Given the description of an element on the screen output the (x, y) to click on. 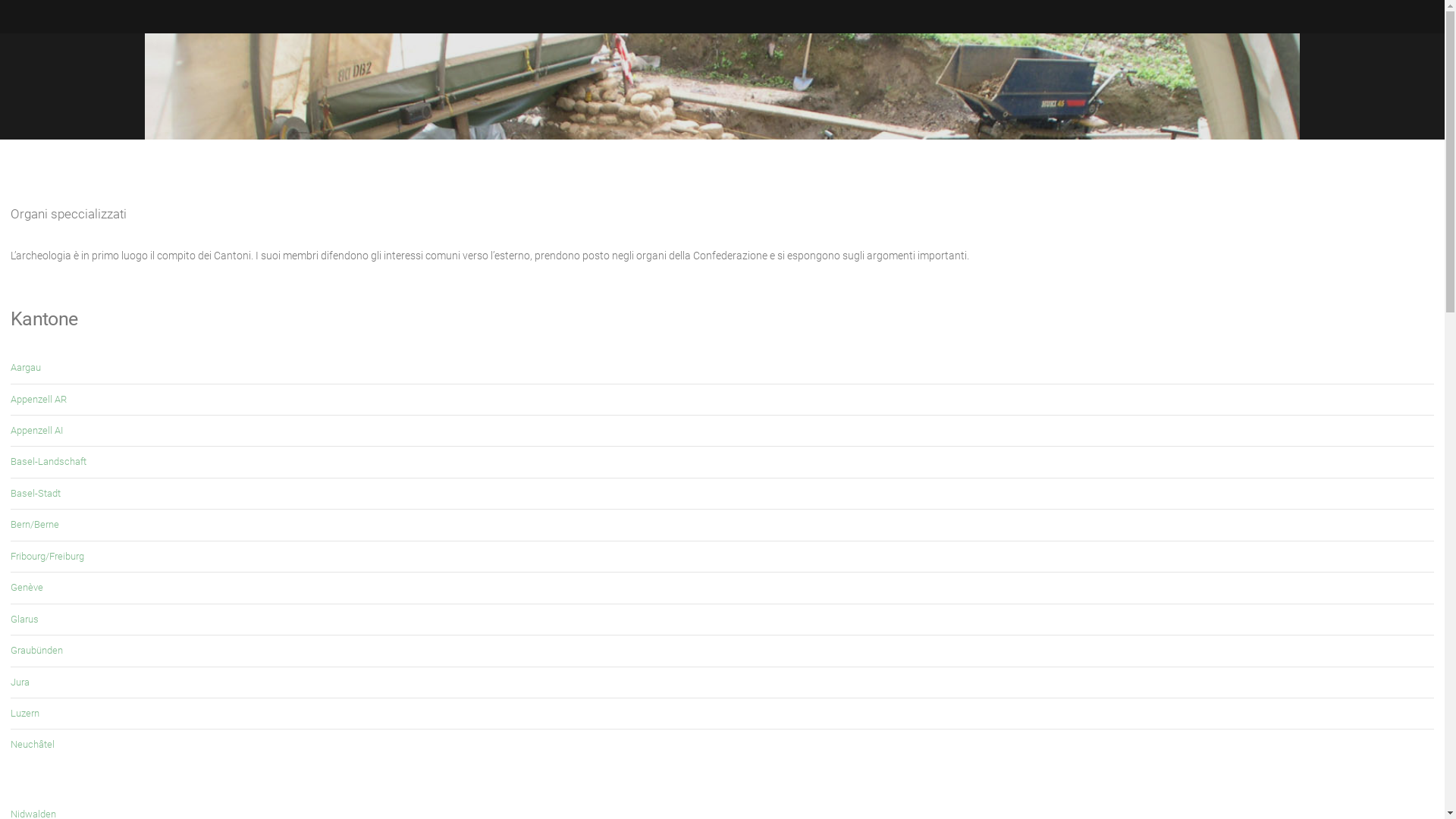
Appenzell AR Element type: text (38, 398)
Basel-Landschaft Element type: text (48, 461)
Appenzell AI Element type: text (36, 430)
Basel-Stadt Element type: text (35, 492)
Luzern Element type: text (24, 712)
Glarus Element type: text (24, 618)
Bern/Berne Element type: text (34, 524)
Fribourg/Freiburg Element type: text (47, 555)
Aargau Element type: text (25, 367)
Jura Element type: text (19, 681)
